Given the description of an element on the screen output the (x, y) to click on. 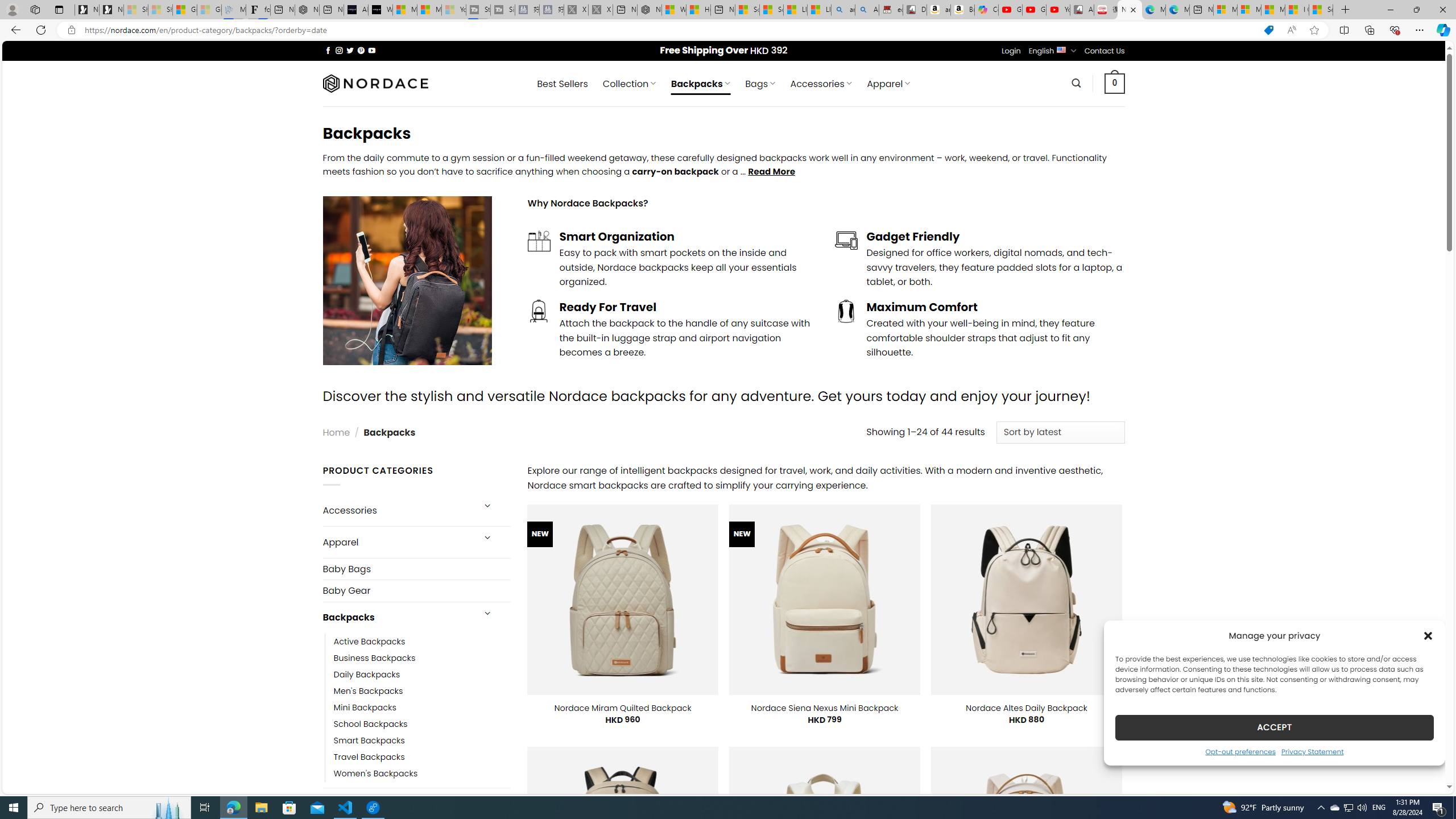
Baby Gear (416, 590)
Travel Backpacks (422, 756)
Business Backpacks (422, 657)
Nordace - #1 Japanese Best-Seller - Siena Smart Backpack (306, 9)
 Best Sellers (562, 83)
Baby Bags (416, 568)
Nordace Altes Daily Backpack (1026, 708)
